Given the description of an element on the screen output the (x, y) to click on. 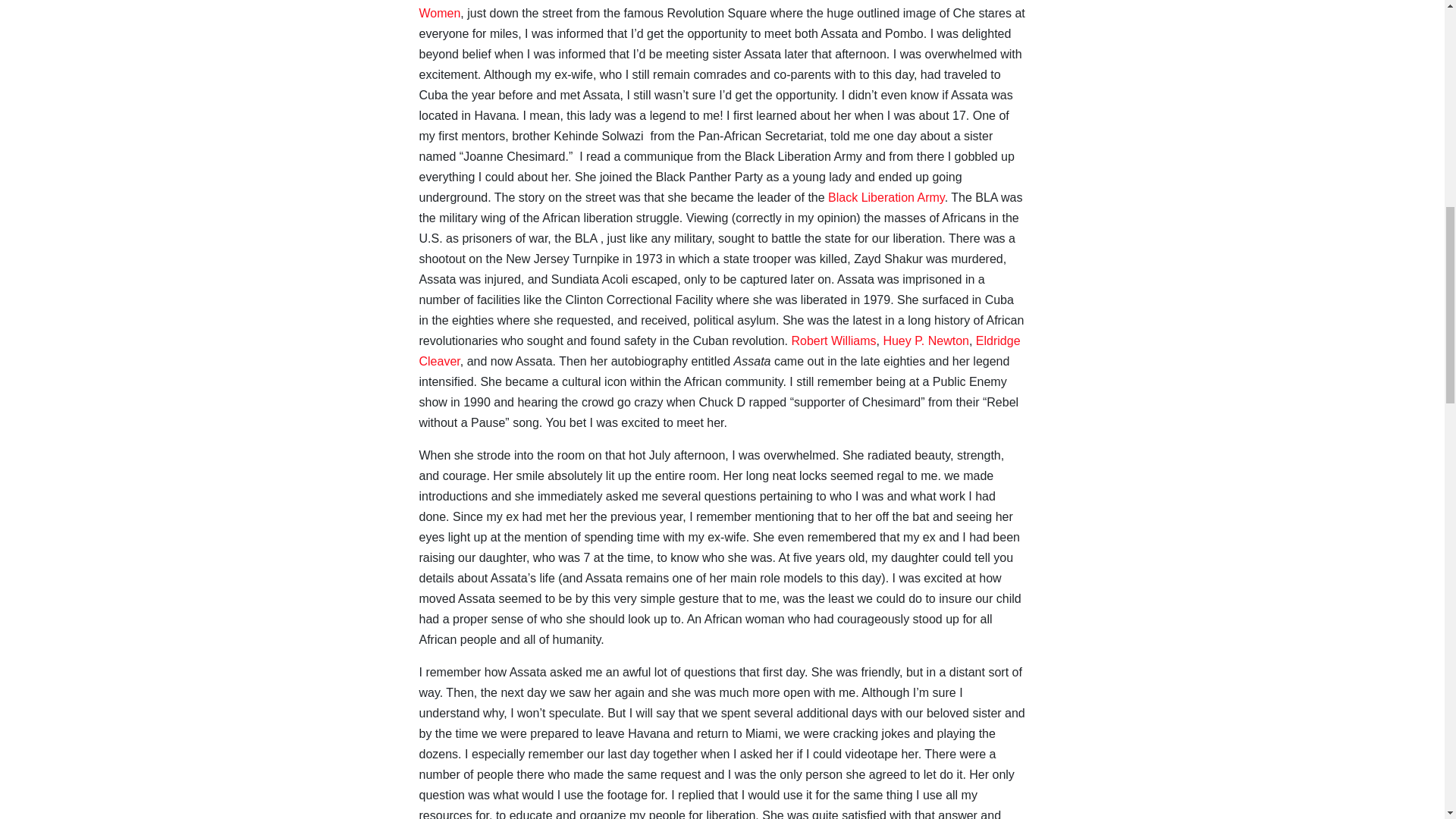
Black Liberation Army (886, 196)
Eldridge Cleaver (719, 350)
Robert Williams (833, 340)
Huey P. Newton (925, 340)
Federation of Cuban Women (708, 9)
